Given the description of an element on the screen output the (x, y) to click on. 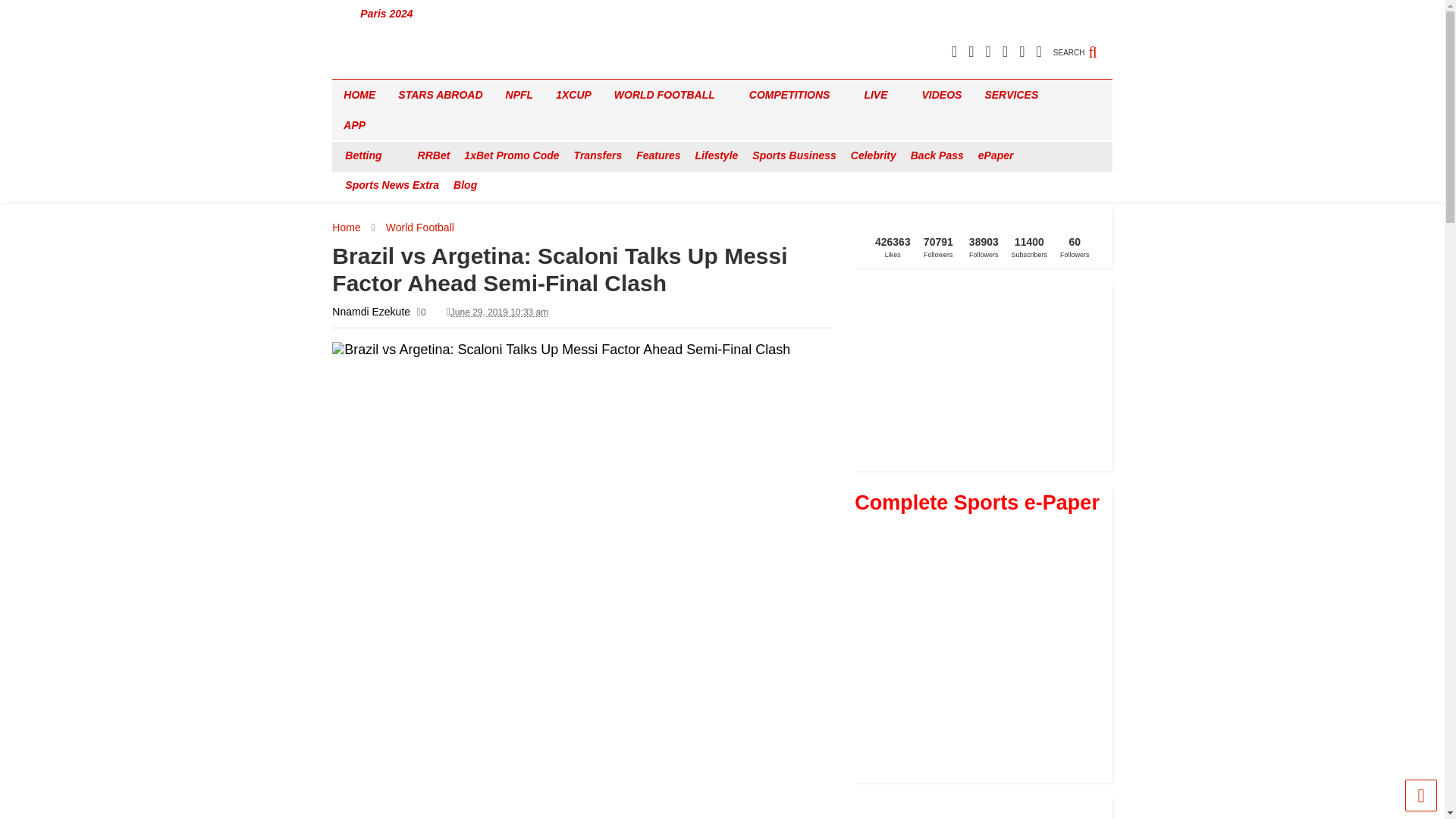
NPFL (519, 94)
STARS ABROAD (440, 94)
SEARCH (1082, 44)
1XCUP (573, 94)
COMPETITIONS (795, 94)
Nnamdi Ezekute (370, 311)
SERVICES (1016, 94)
LIVE (880, 94)
Complete Sports (383, 66)
